Given the description of an element on the screen output the (x, y) to click on. 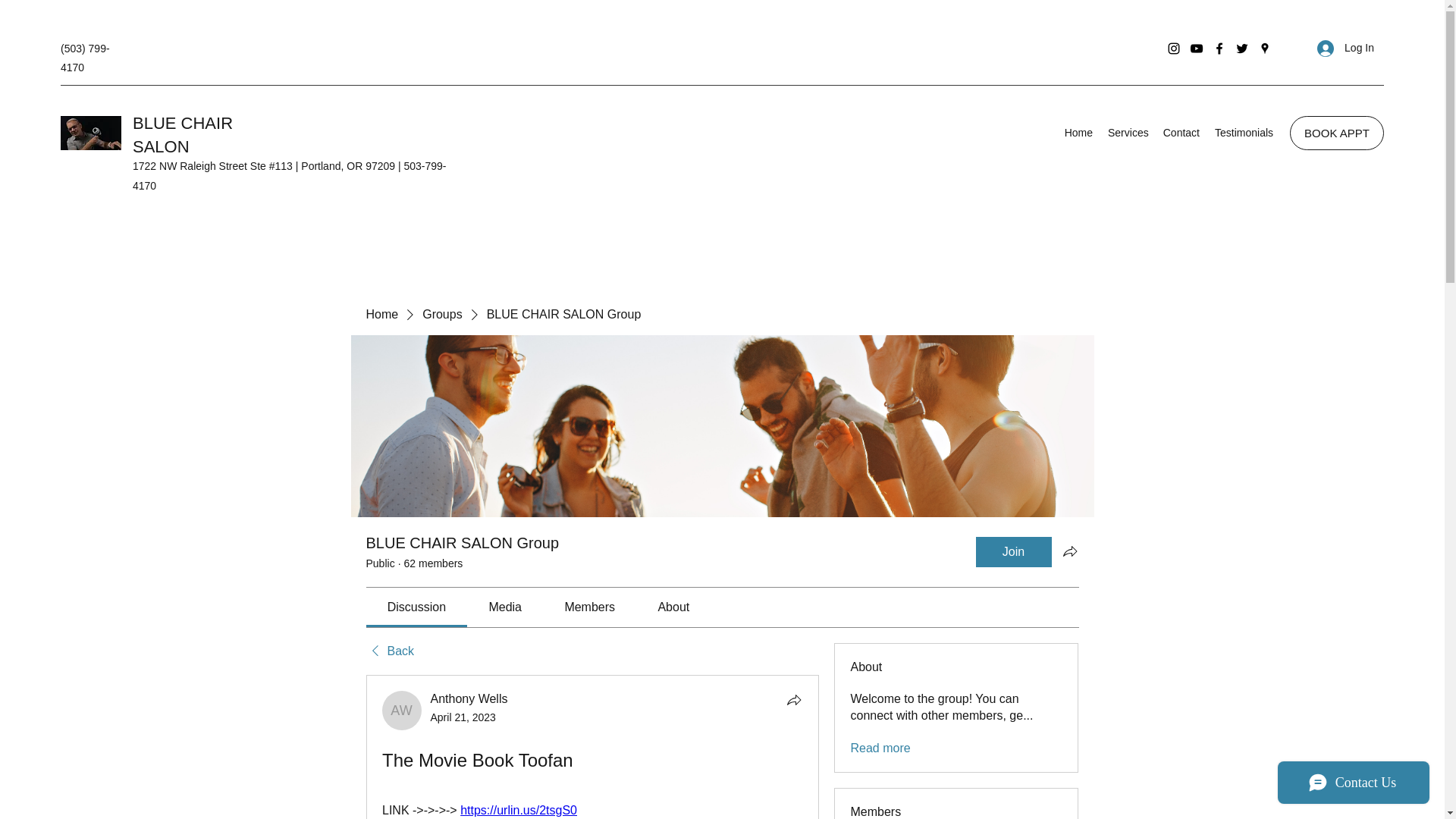
Testimonials (1243, 132)
April 21, 2023 (463, 717)
Groups (441, 314)
Home (1078, 132)
Read more (880, 748)
BLUE CHAIR SALON (182, 134)
Contact (1180, 132)
BOOK APPT (1337, 132)
Back (389, 651)
Log In (1345, 48)
Anthony Wells (401, 710)
Services (1127, 132)
Home (381, 314)
Join (1013, 552)
